Given the description of an element on the screen output the (x, y) to click on. 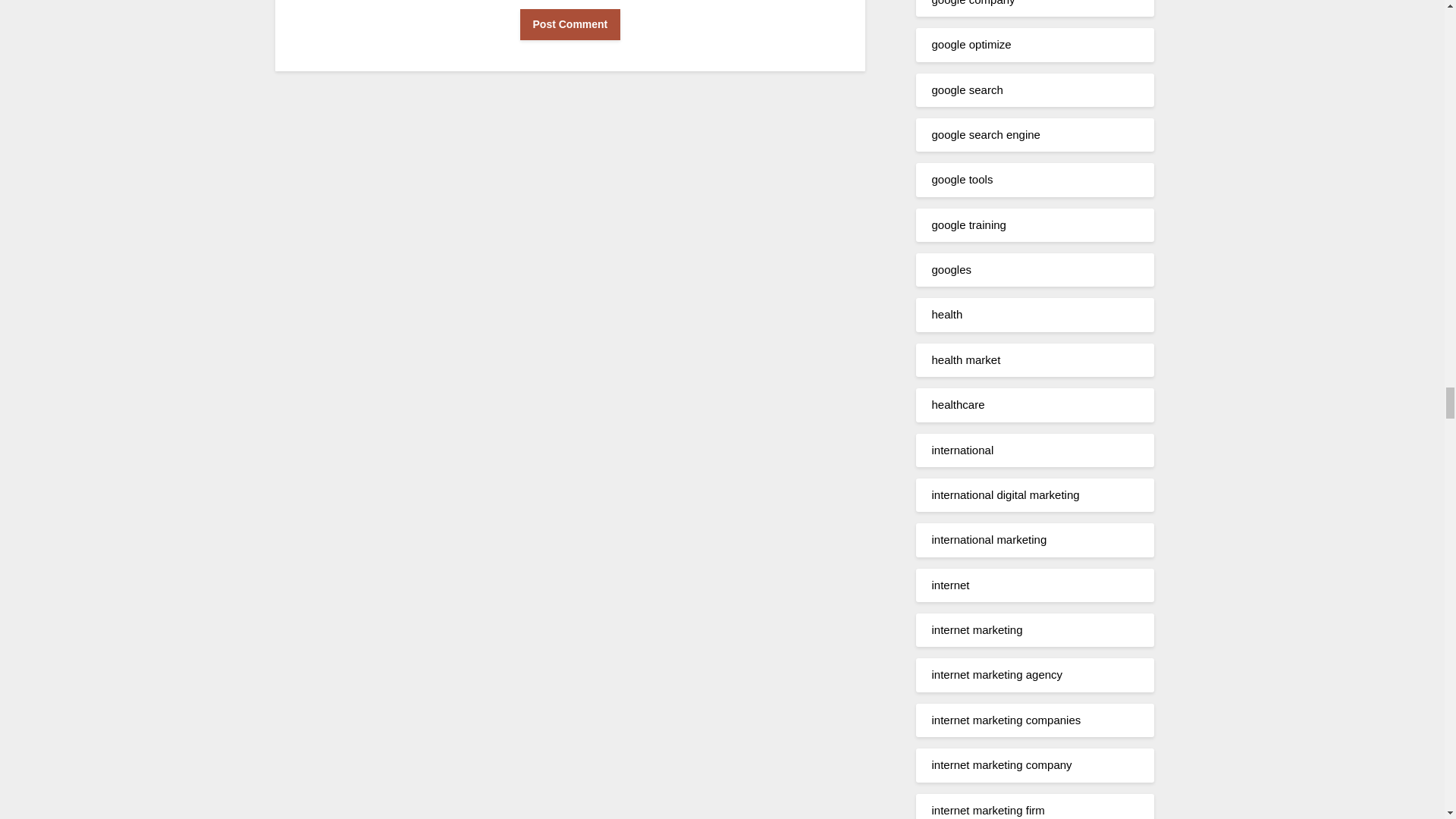
Post Comment (570, 24)
Post Comment (570, 24)
